Given the description of an element on the screen output the (x, y) to click on. 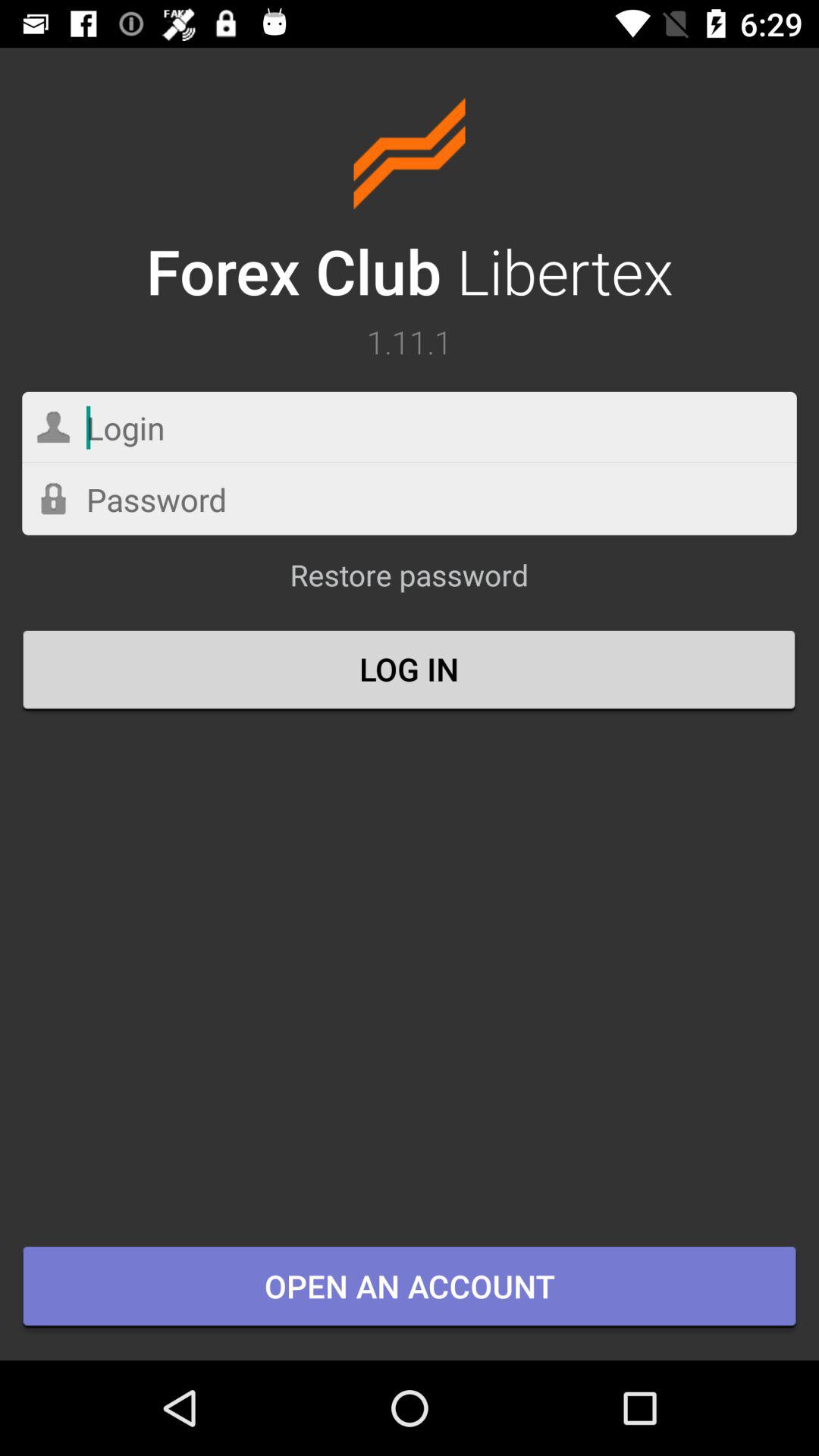
select item above 1.11.1 icon (409, 204)
